Given the description of an element on the screen output the (x, y) to click on. 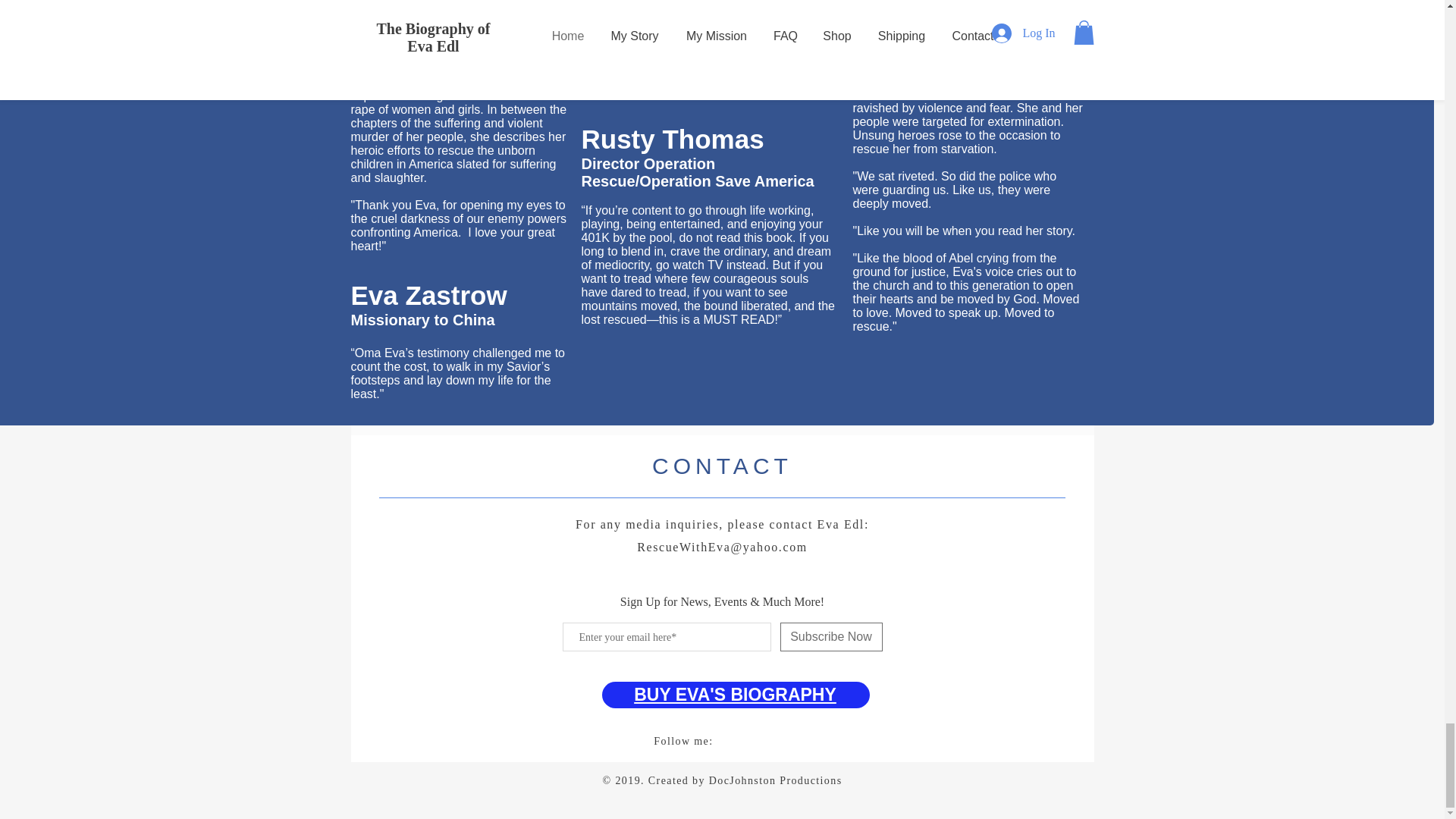
BUY EVA'S BIOGRAPHY (734, 694)
Subscribe Now (830, 636)
